Given the description of an element on the screen output the (x, y) to click on. 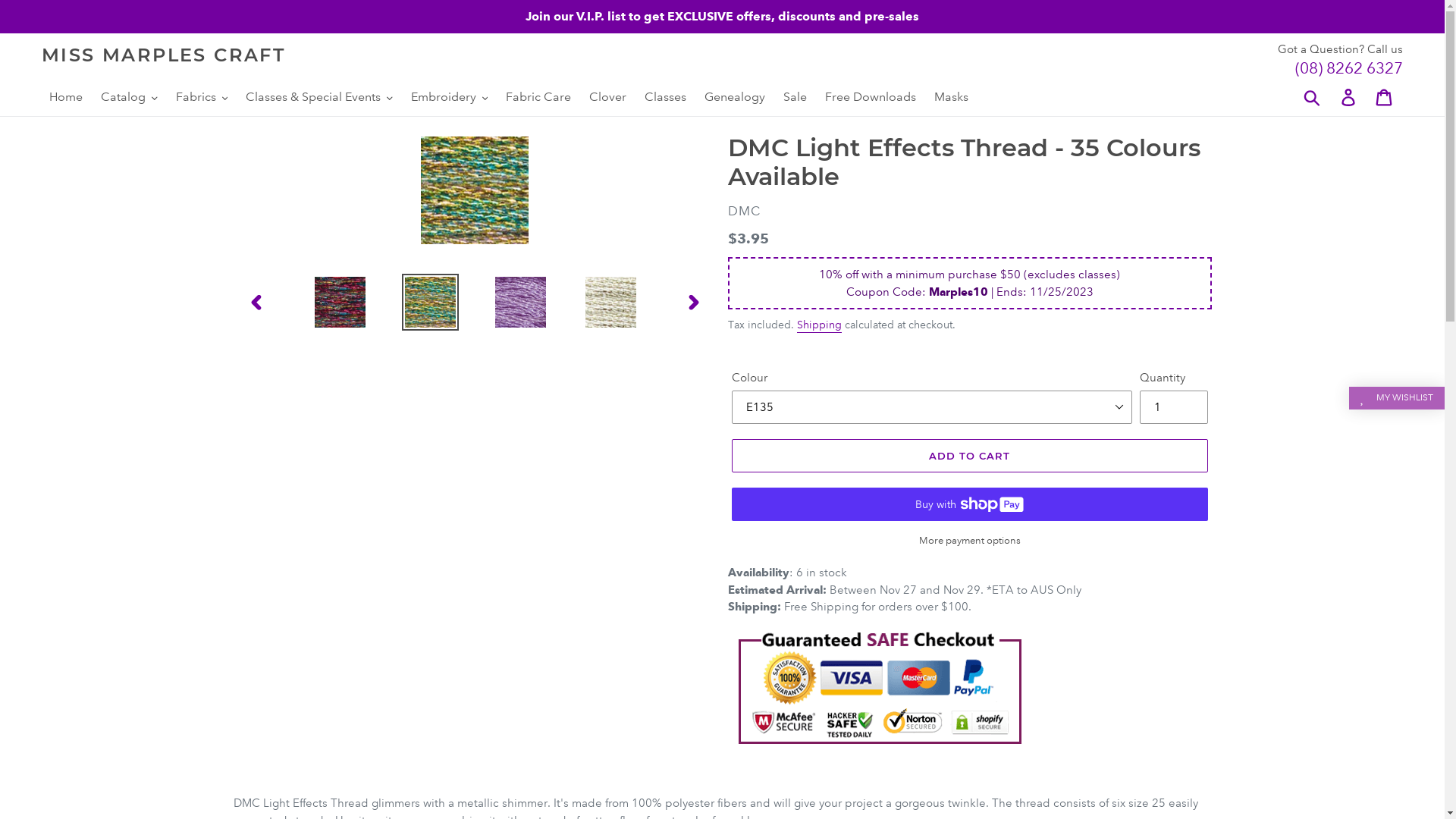
PREVIOUS SLIDE Element type: text (256, 301)
Clover Element type: text (607, 96)
Masks Element type: text (950, 96)
Fabric Care Element type: text (538, 96)
Log in Element type: text (1349, 96)
Sale Element type: text (794, 96)
Shipping Element type: text (819, 324)
ADD TO CART Element type: text (969, 455)
Submit Element type: text (1312, 96)
Genealogy Element type: text (734, 96)
MISS MARPLES CRAFT Element type: text (163, 55)
Cart Element type: text (1384, 96)
Classes Element type: text (665, 96)
Free Downloads Element type: text (870, 96)
NEXT SLIDE Element type: text (693, 301)
Home Element type: text (65, 96)
More payment options Element type: text (969, 541)
